Given the description of an element on the screen output the (x, y) to click on. 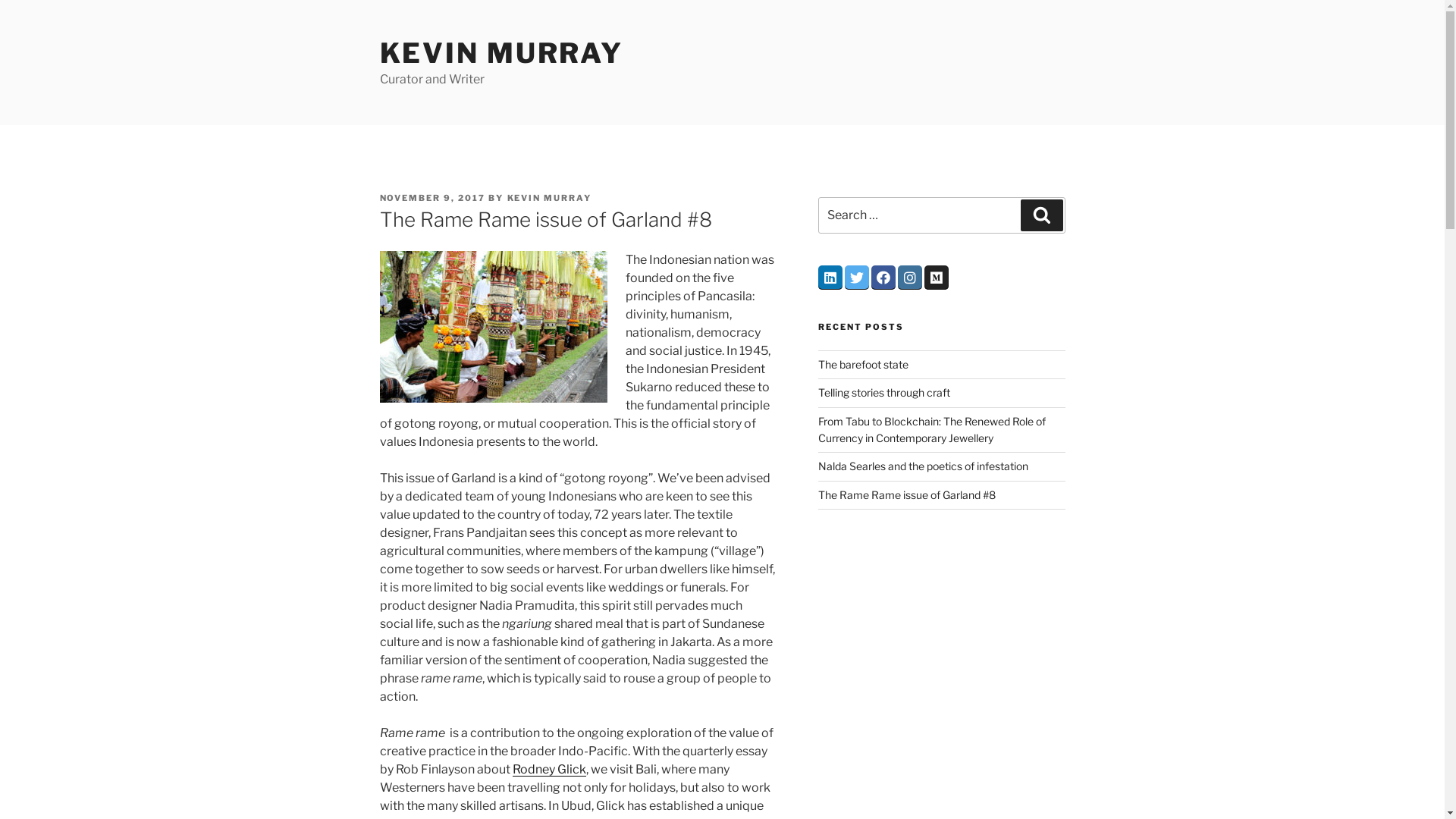
The barefoot state Element type: text (863, 363)
Facebook Element type: hover (883, 277)
Instagram Element type: hover (909, 277)
KEVIN MURRAY Element type: text (501, 52)
Rodney Glick Element type: text (549, 769)
Nalda Searles and the poetics of infestation Element type: text (923, 465)
Medium Element type: hover (936, 277)
The Rame Rame issue of Garland #8 Element type: text (906, 494)
KEVIN MURRAY Element type: text (548, 197)
Search Element type: text (1041, 215)
NOVEMBER 9, 2017 Element type: text (432, 197)
Twitter Element type: hover (856, 277)
Telling stories through craft Element type: text (884, 391)
LinkedIn Element type: hover (830, 277)
